Given the description of an element on the screen output the (x, y) to click on. 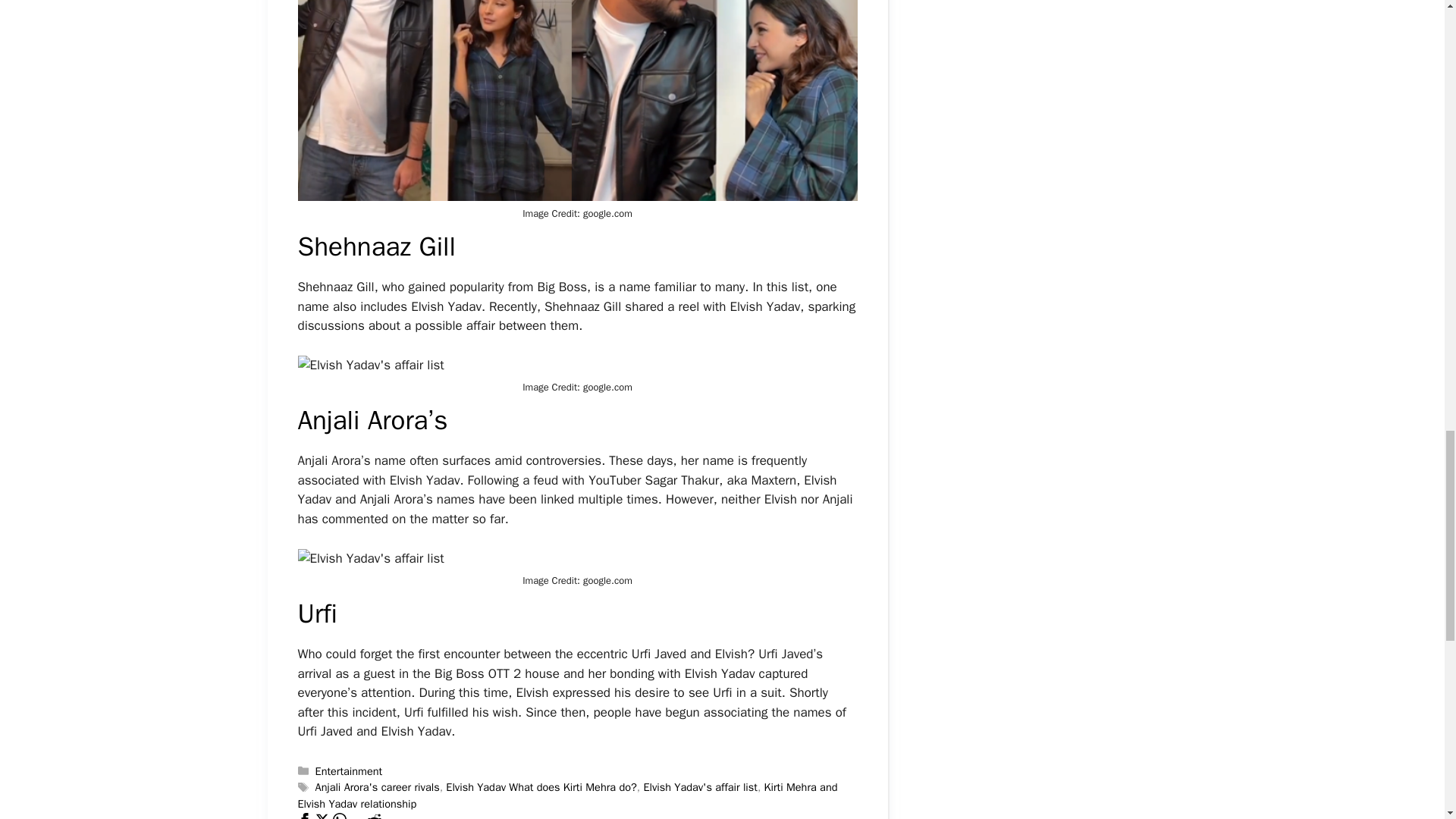
Kirti Mehra and Elvish Yadav relationship (567, 795)
Elvish Yadav's affair list (700, 786)
Elvish Yadav What does Kirti Mehra do? (540, 786)
Anjali Arora's career rivals (377, 786)
Entertainment (348, 771)
